Given the description of an element on the screen output the (x, y) to click on. 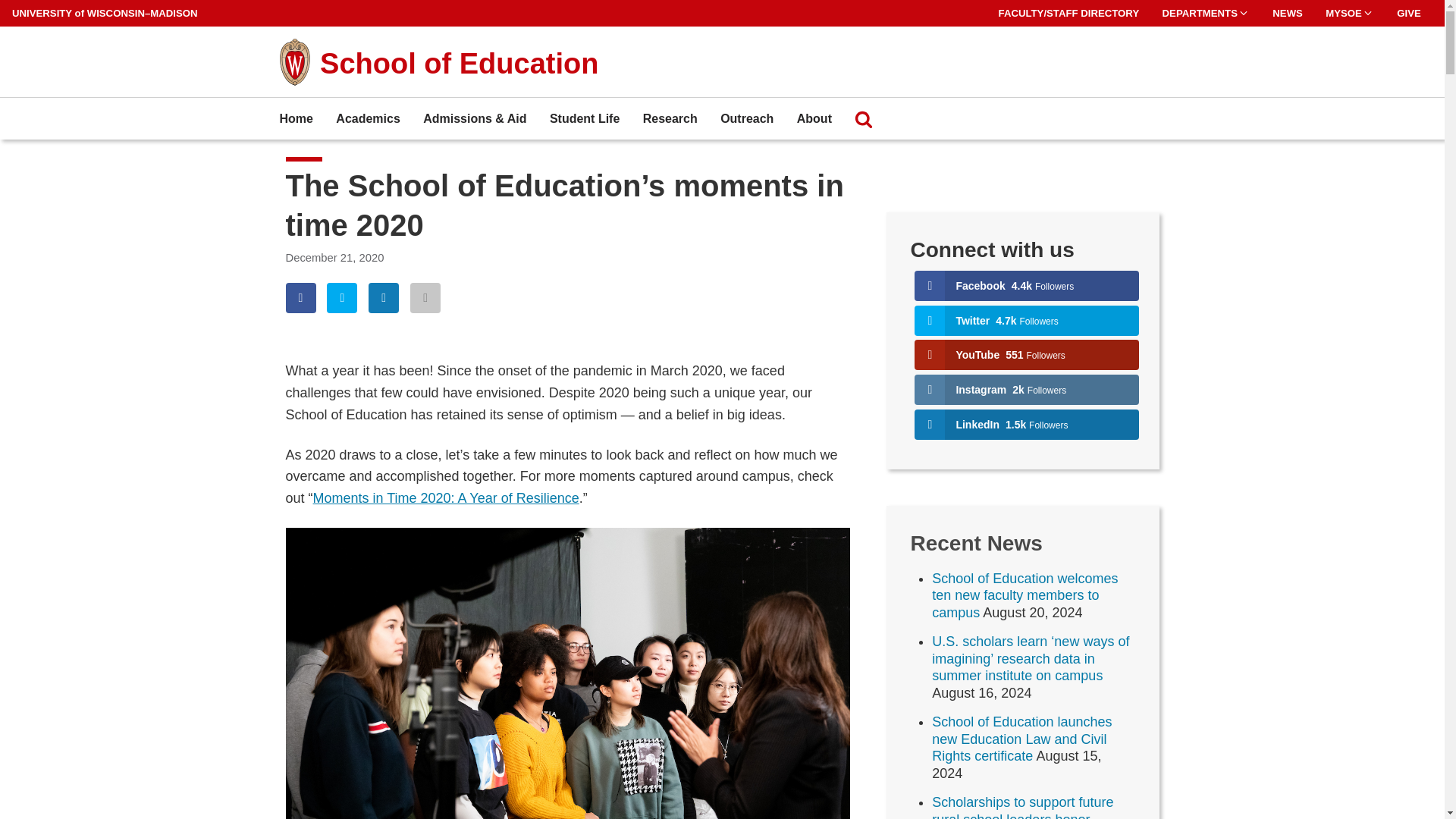
About (813, 118)
Skip to main content (3, 3)
Outreach (746, 118)
MYSOE EXPAND (1349, 13)
Home (296, 118)
GIVE (1408, 13)
DEPARTMENTS EXPAND (1205, 13)
School of Education (459, 63)
Research (670, 118)
EXPAND (1243, 12)
